Given the description of an element on the screen output the (x, y) to click on. 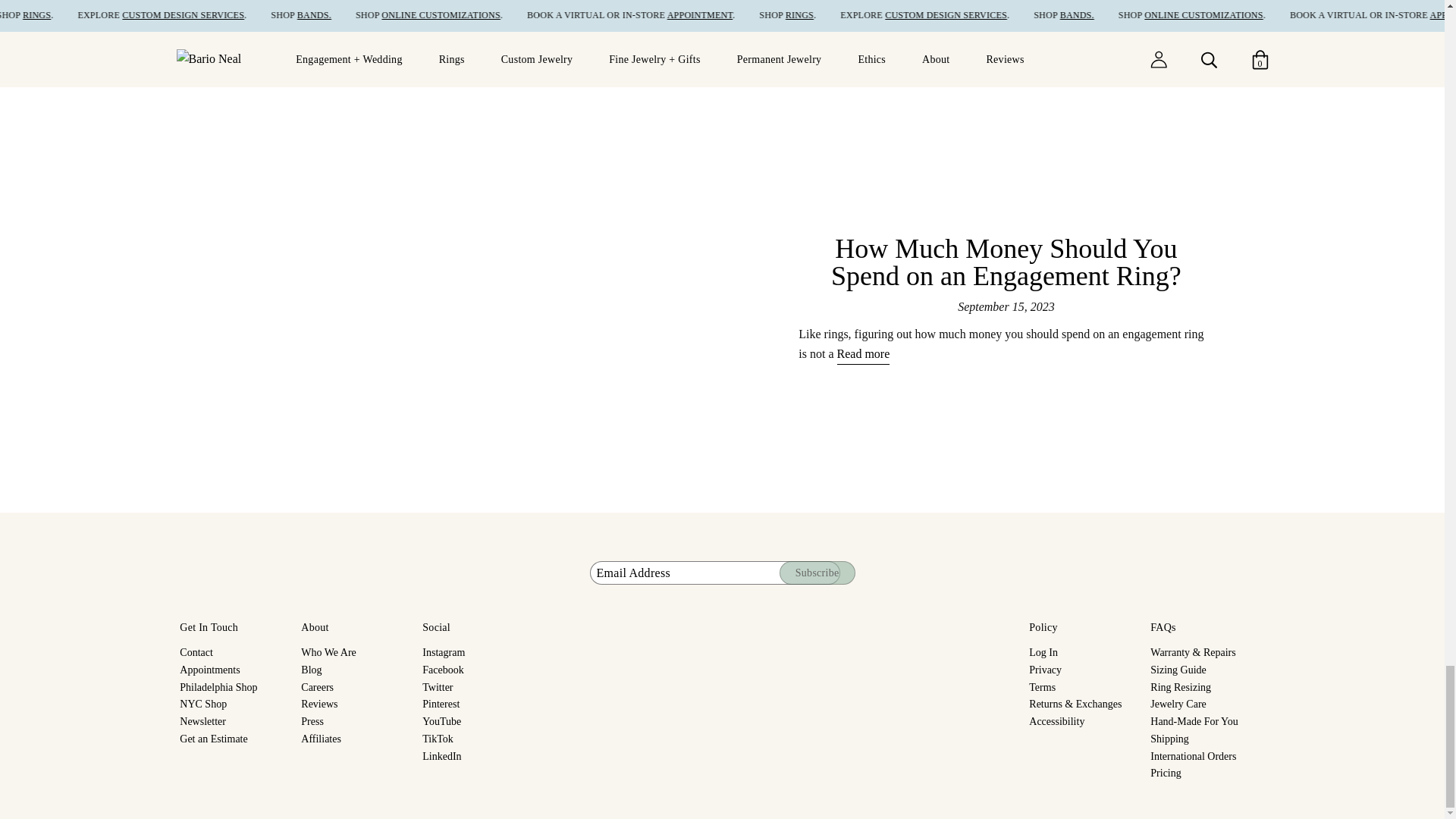
Subscribe (817, 572)
